Given the description of an element on the screen output the (x, y) to click on. 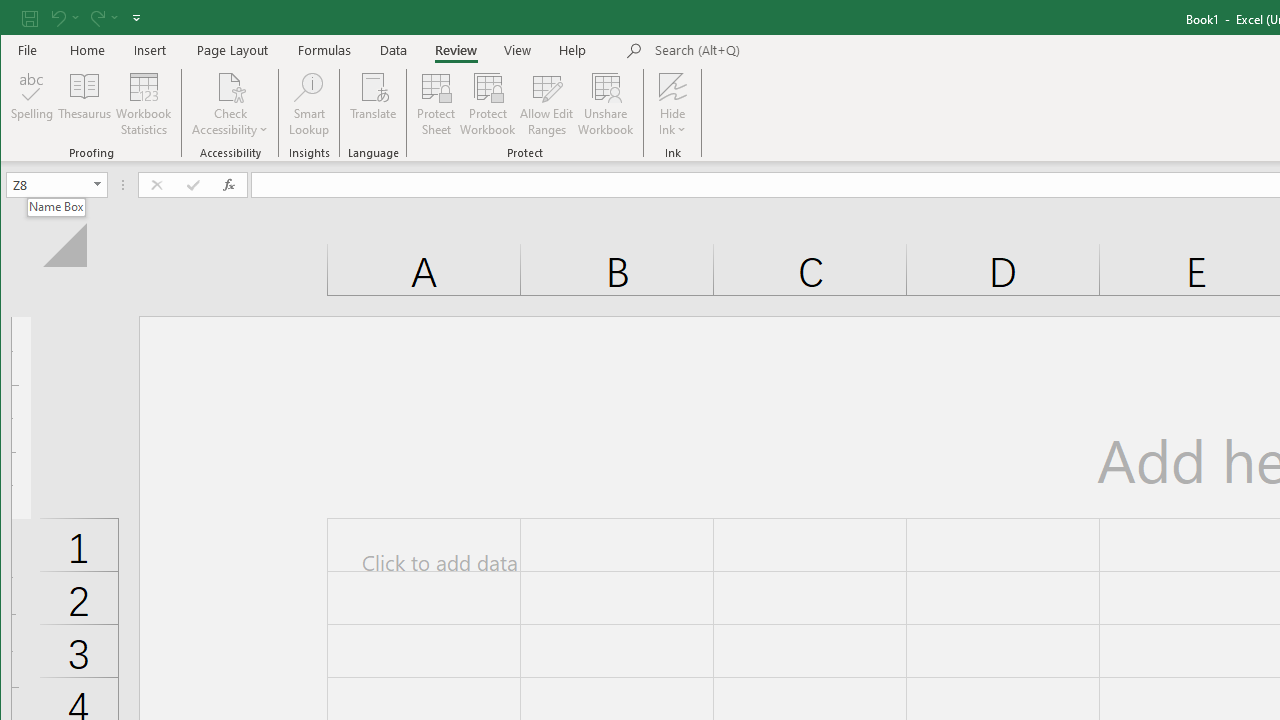
Spelling... (32, 104)
Protect Workbook... (488, 104)
Allow Edit Ranges (547, 104)
Translate (373, 104)
Hide Ink (672, 86)
